Given the description of an element on the screen output the (x, y) to click on. 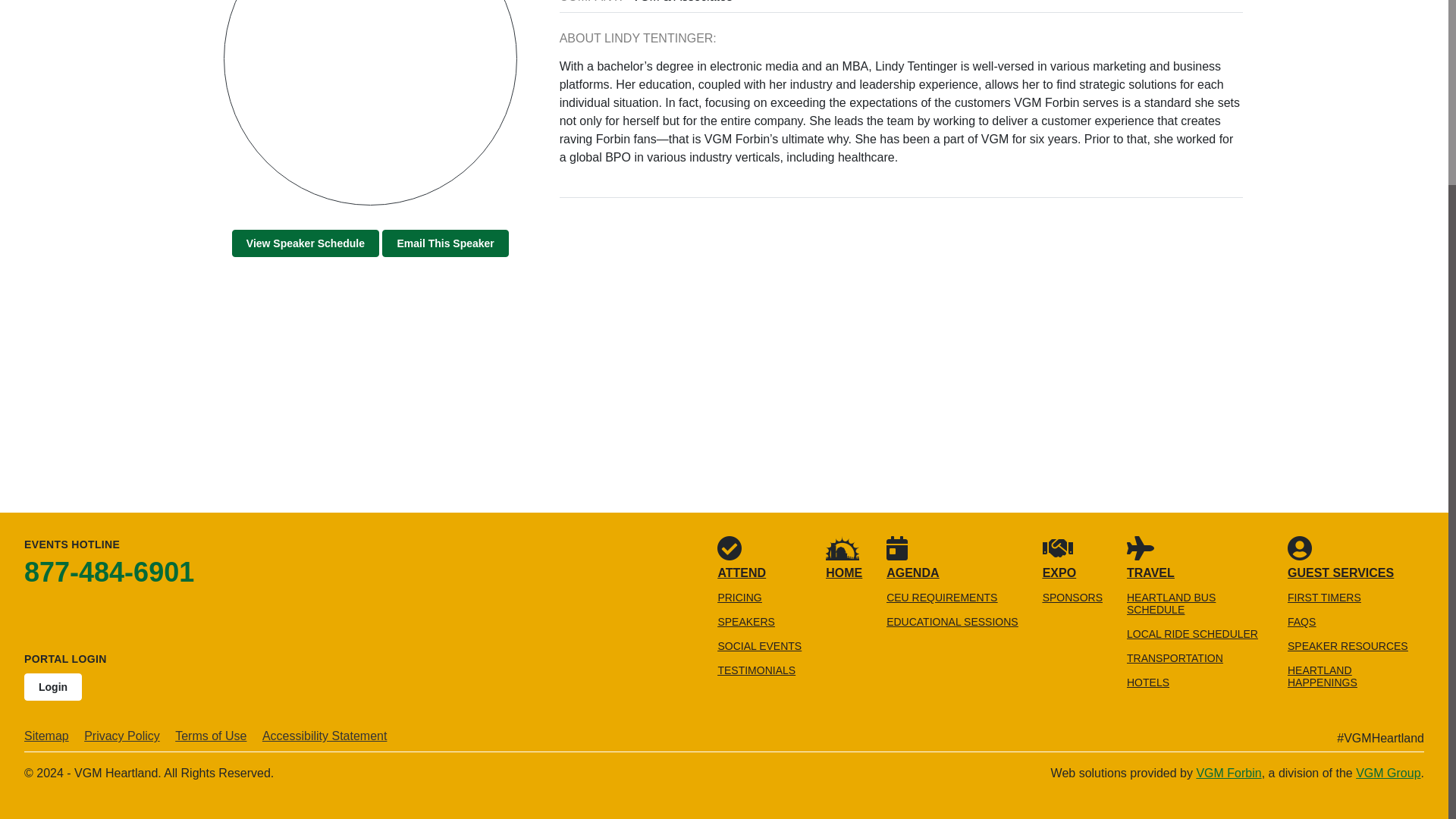
TESTIMONIALS (755, 670)
TRAVEL (1150, 557)
Opens internal link to our privacy policy in the same window (122, 735)
View Speaker Schedule (304, 243)
AGENDA (912, 557)
SPONSORS (1072, 597)
SOCIAL EVENTS (759, 645)
Opens internal link to our terms of use in the same window (210, 735)
SPEAKERS (745, 621)
HEARTLAND BUS SCHEDULE (1170, 603)
ATTEND (741, 557)
PRICING (739, 597)
Login (52, 687)
EDUCATIONAL SESSIONS (951, 621)
